Given the description of an element on the screen output the (x, y) to click on. 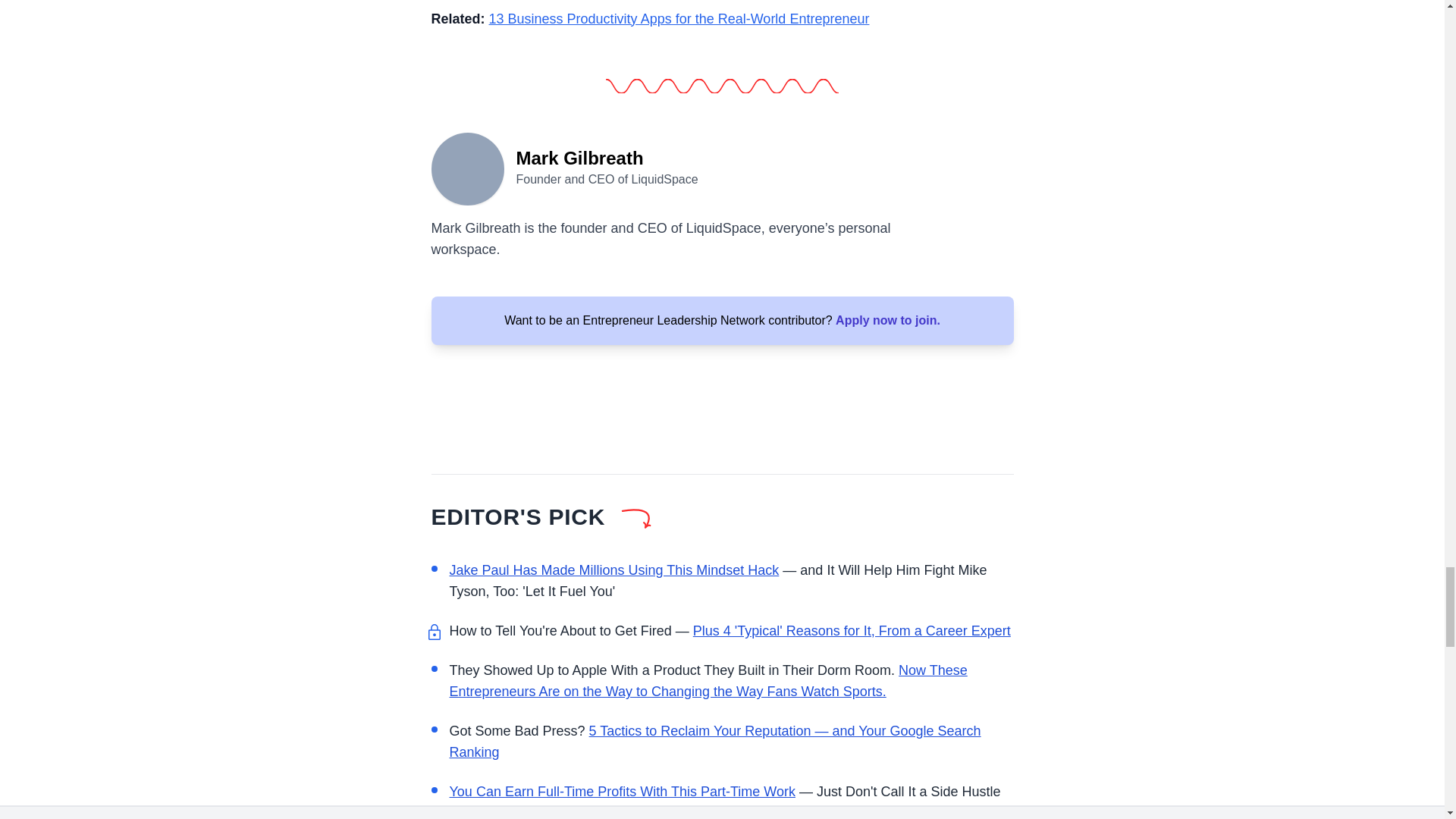
Mark Gilbreath (466, 167)
